Given the description of an element on the screen output the (x, y) to click on. 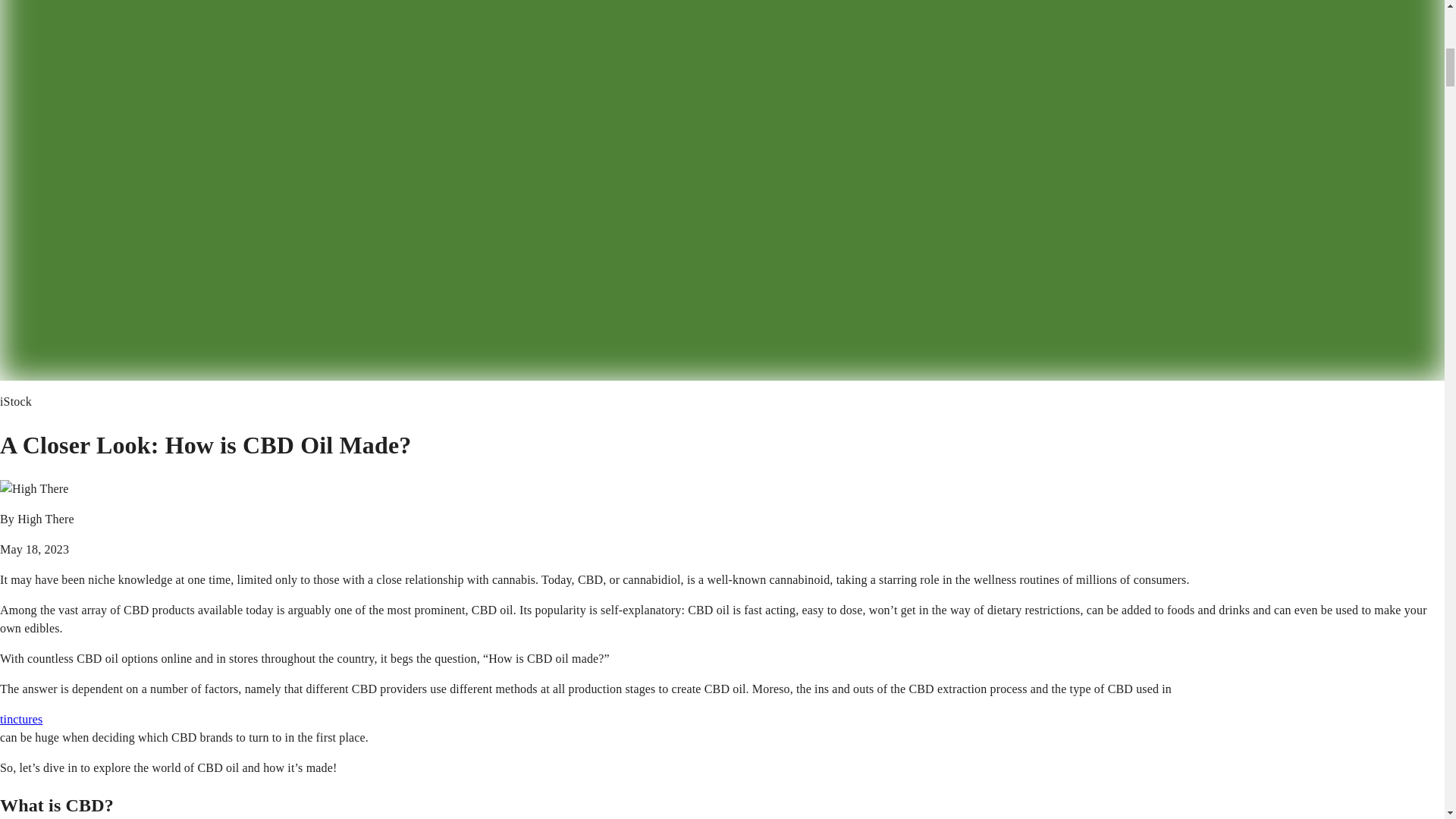
tinctures (21, 718)
